Given the description of an element on the screen output the (x, y) to click on. 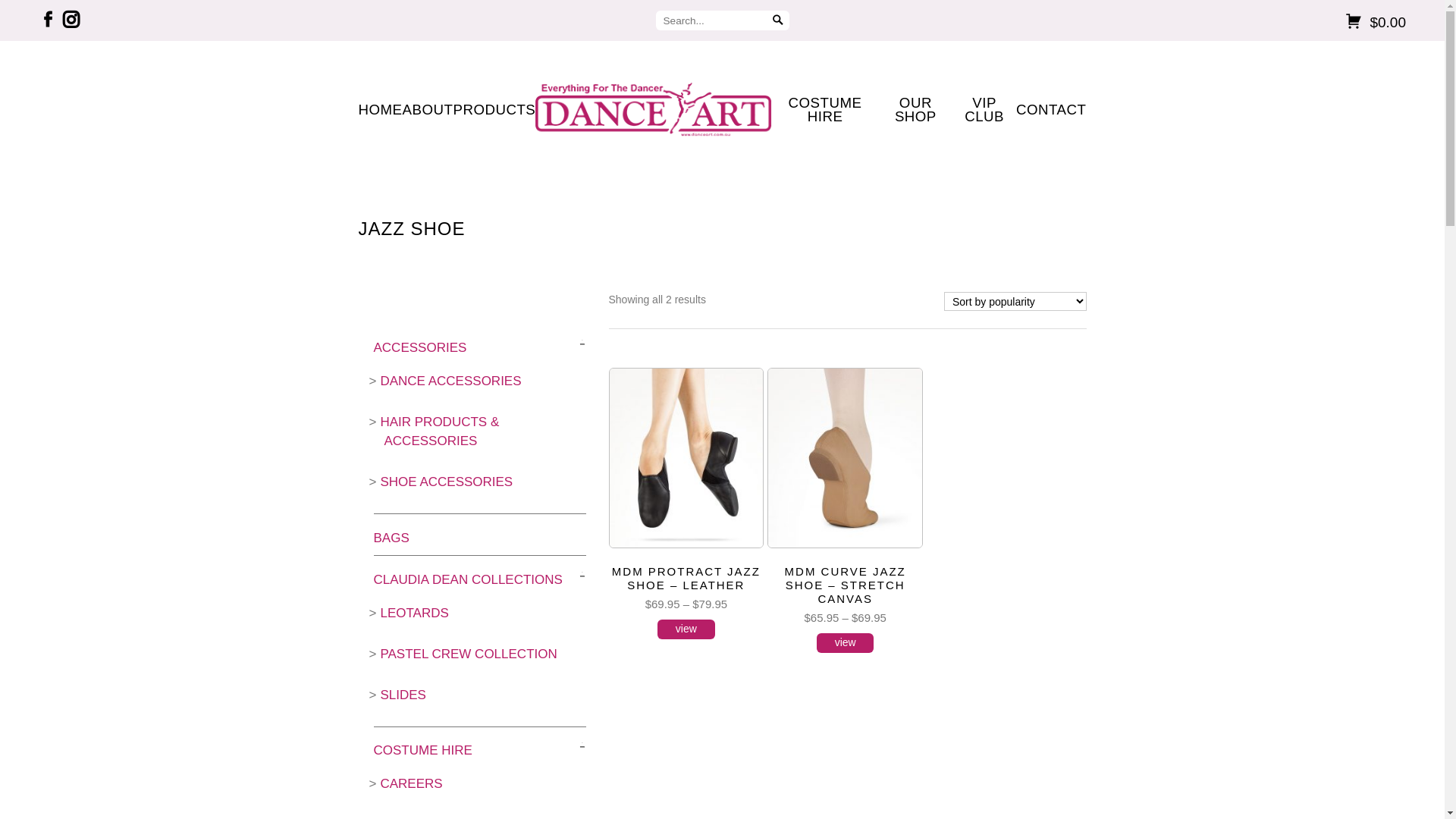
COSTUME HIRE Element type: text (824, 109)
CONTACT Element type: text (1050, 109)
BAGS Element type: text (390, 537)
OUR SHOP Element type: text (915, 109)
VIP CLUB Element type: text (984, 109)
LEOTARDS Element type: text (413, 612)
Search Element type: hover (777, 20)
COSTUME HIRE Element type: text (422, 750)
HAIR PRODUCTS & ACCESSORIES Element type: text (438, 431)
$0.00 Element type: text (1177, 23)
PRODUCTS Element type: text (493, 109)
HOME Element type: text (379, 109)
SHOE ACCESSORIES Element type: text (445, 481)
CLAUDIA DEAN COLLECTIONS Element type: text (467, 579)
ABOUT Element type: text (427, 109)
CAREERS Element type: text (410, 783)
view Element type: text (845, 642)
ACCESSORIES Element type: text (419, 347)
view Element type: text (686, 629)
SLIDES Element type: text (402, 694)
DANCE ACCESSORIES Element type: text (449, 380)
PASTEL CREW COLLECTION Element type: text (467, 653)
